Given the description of an element on the screen output the (x, y) to click on. 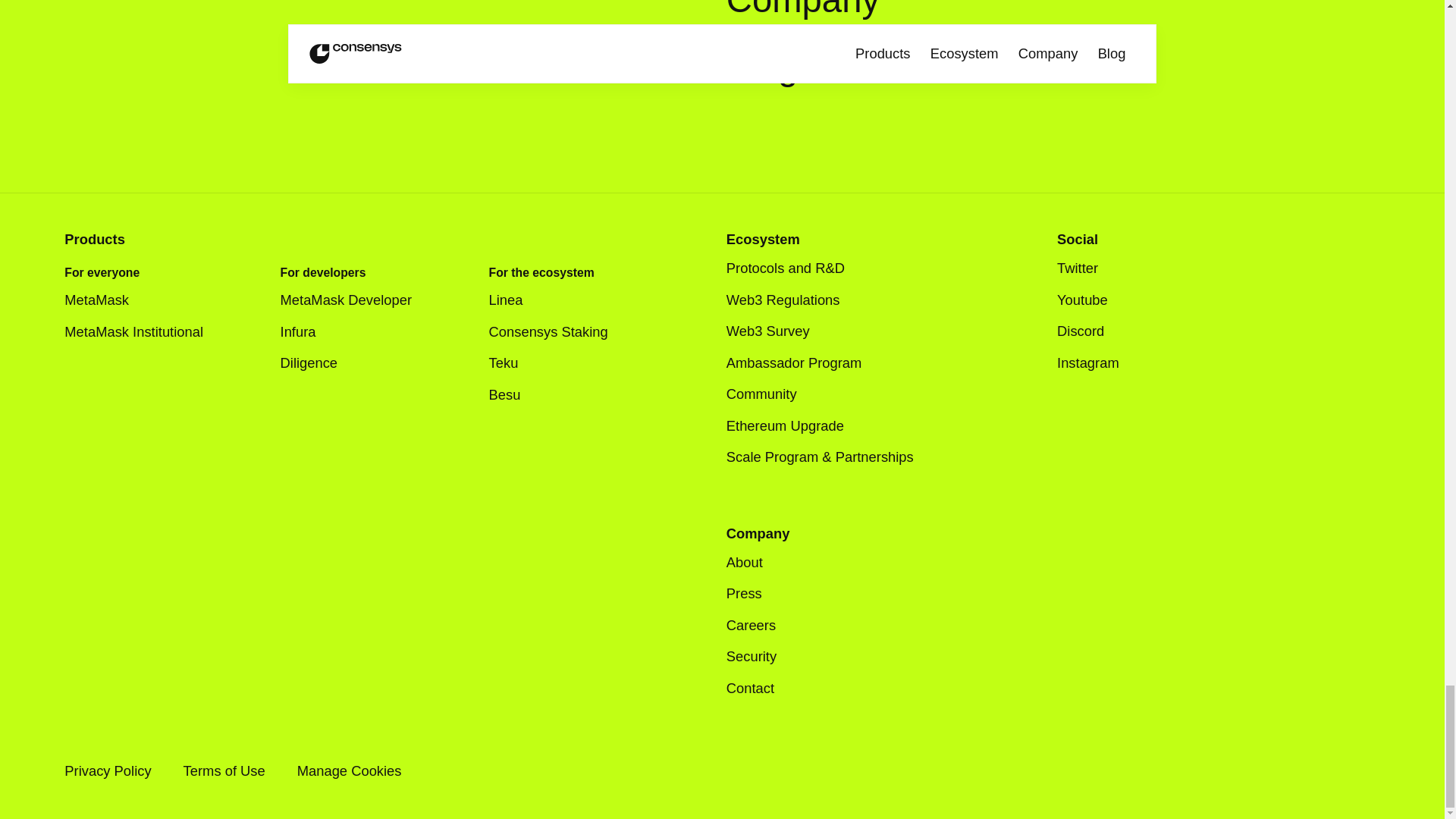
Web3 Survey (767, 331)
Twitter (1088, 268)
For the ecosystem (541, 272)
MetaMask Institutional (144, 332)
About (744, 562)
Consensys Staking (548, 332)
Community (772, 394)
Web3 Regulations (783, 300)
Besu (516, 394)
Linea (516, 300)
